Given the description of an element on the screen output the (x, y) to click on. 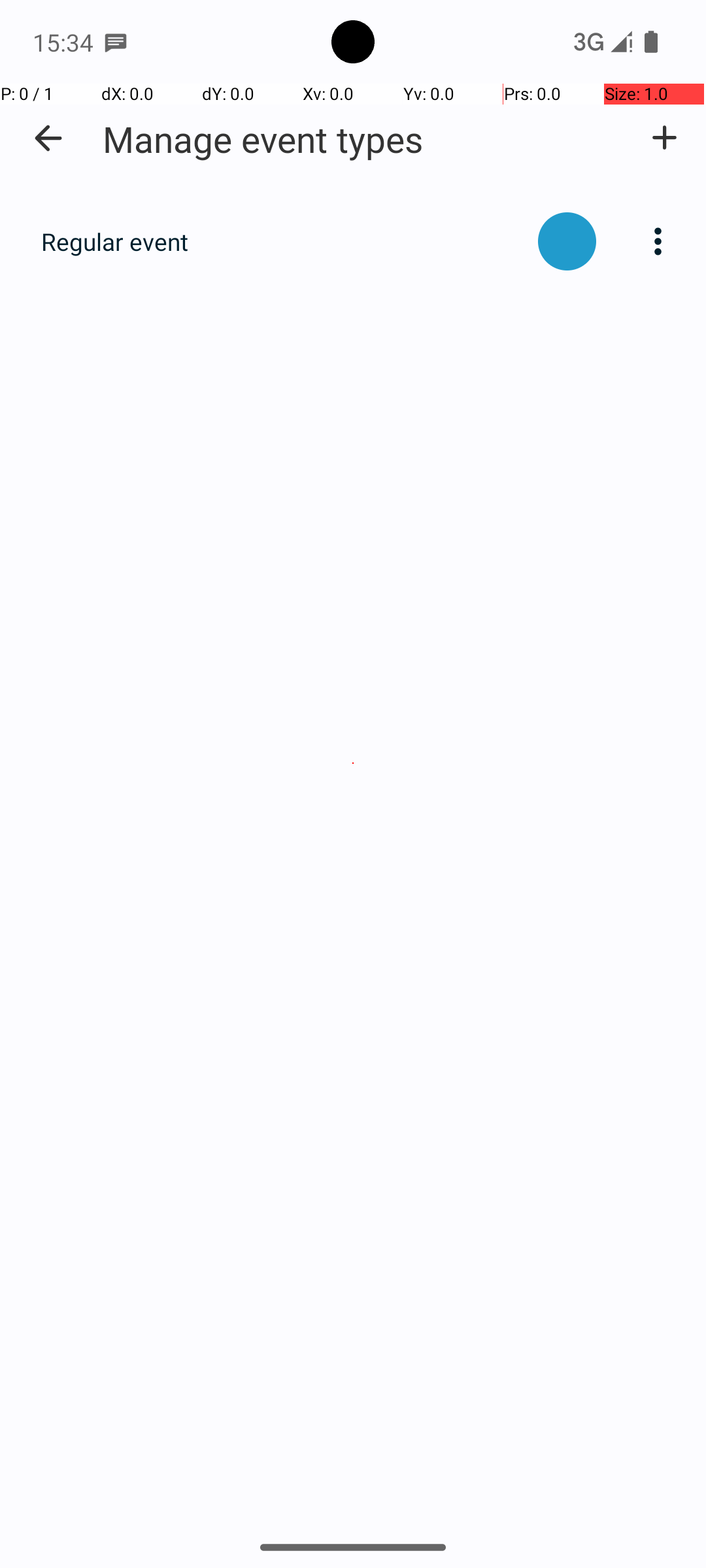
Manage event types Element type: android.widget.TextView (262, 138)
Add a new type Element type: android.widget.Button (664, 137)
